Given the description of an element on the screen output the (x, y) to click on. 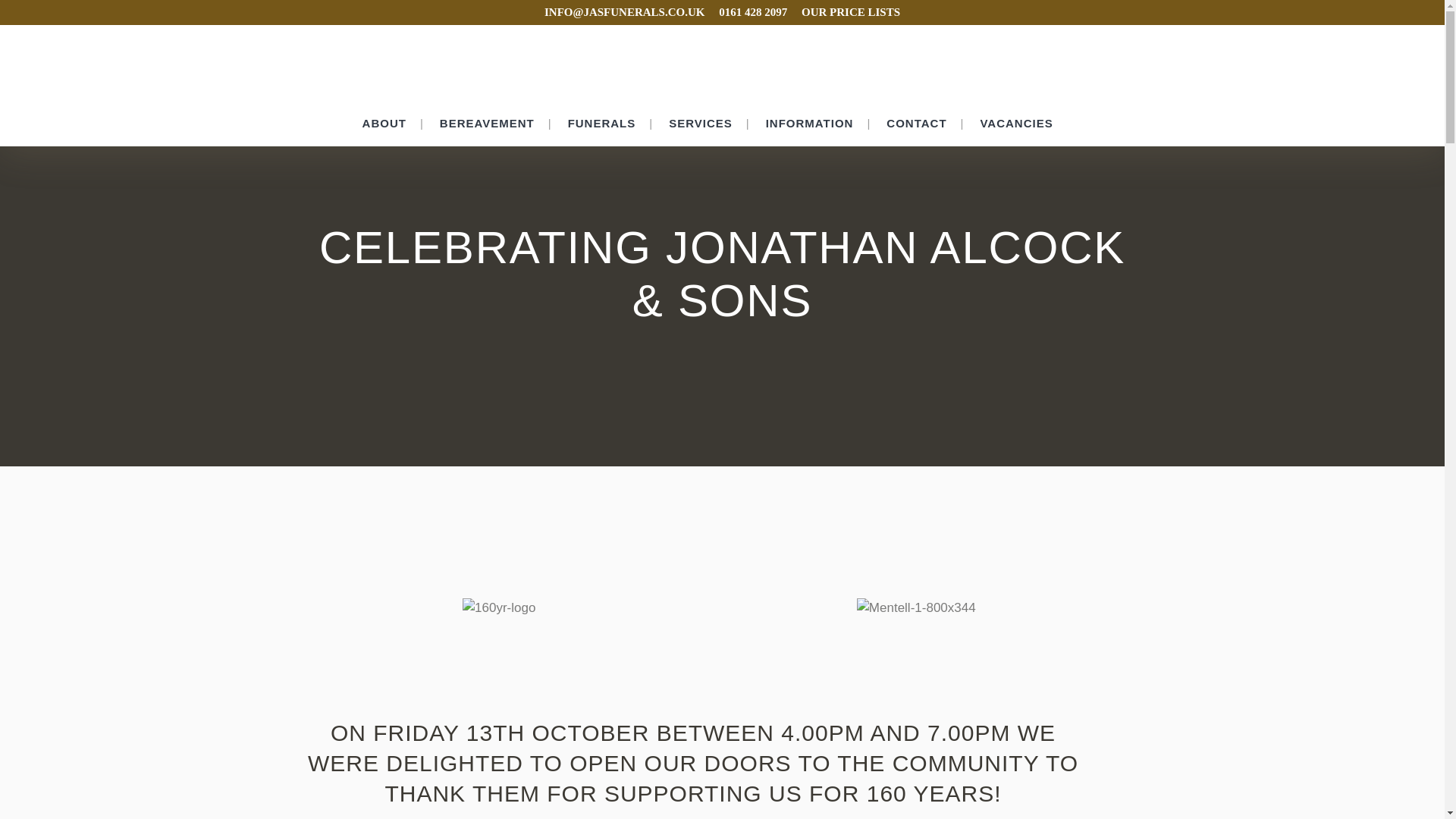
160yr-logo (499, 608)
FUNERALS (601, 123)
INFORMATION (810, 123)
Mentell-1-800x344 (916, 608)
SERVICES (700, 123)
ABOUT (384, 123)
0161 428 2097 (747, 12)
OUR PRICE LISTS (844, 12)
BEREAVEMENT (487, 123)
